Given the description of an element on the screen output the (x, y) to click on. 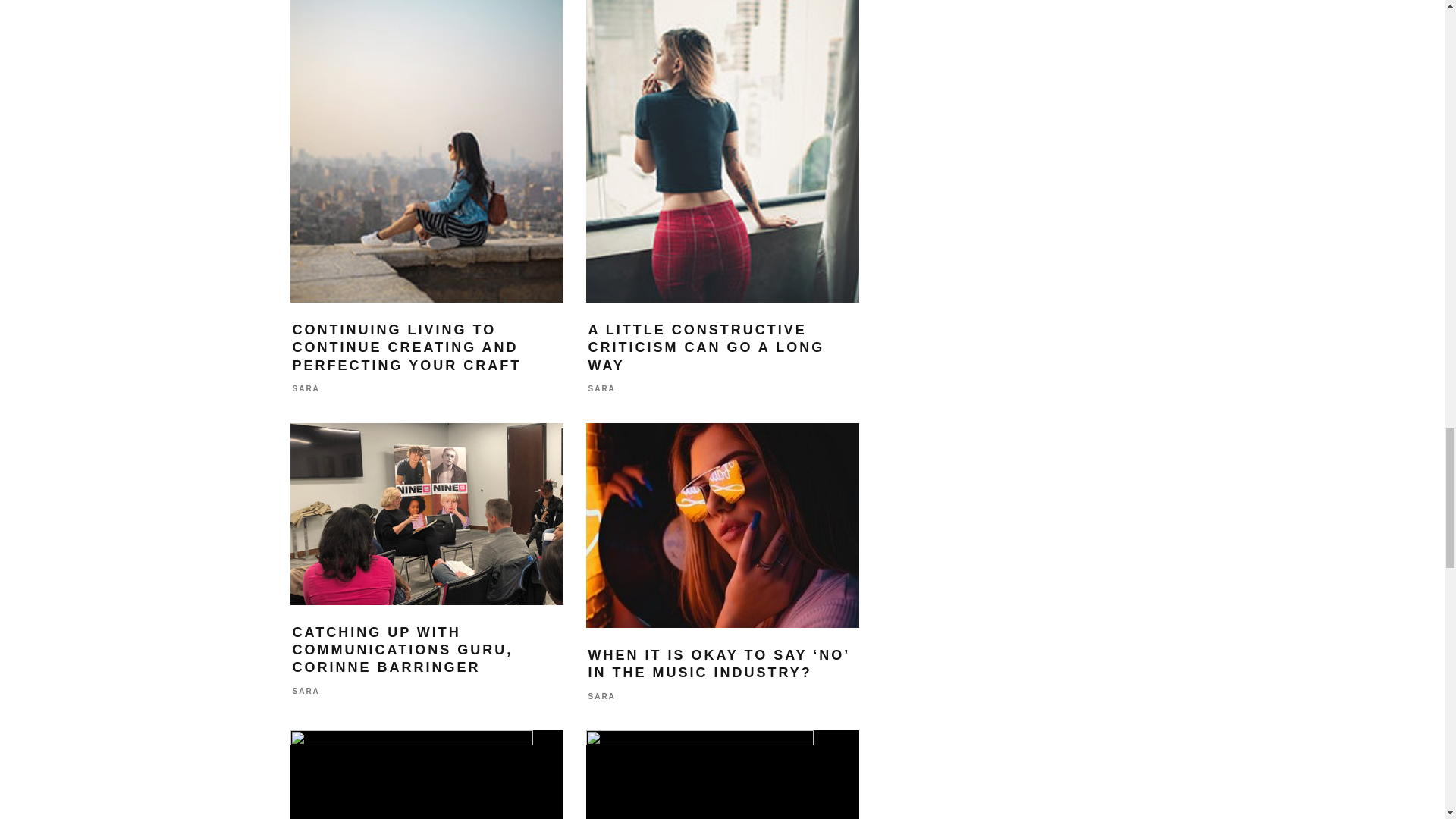
SARA (306, 388)
A LITTLE CONSTRUCTIVE CRITICISM CAN GO A LONG WAY (706, 347)
CATCHING UP WITH COMMUNICATIONS GURU, CORINNE BARRINGER (402, 649)
SARA (306, 691)
SARA (601, 388)
